Given the description of an element on the screen output the (x, y) to click on. 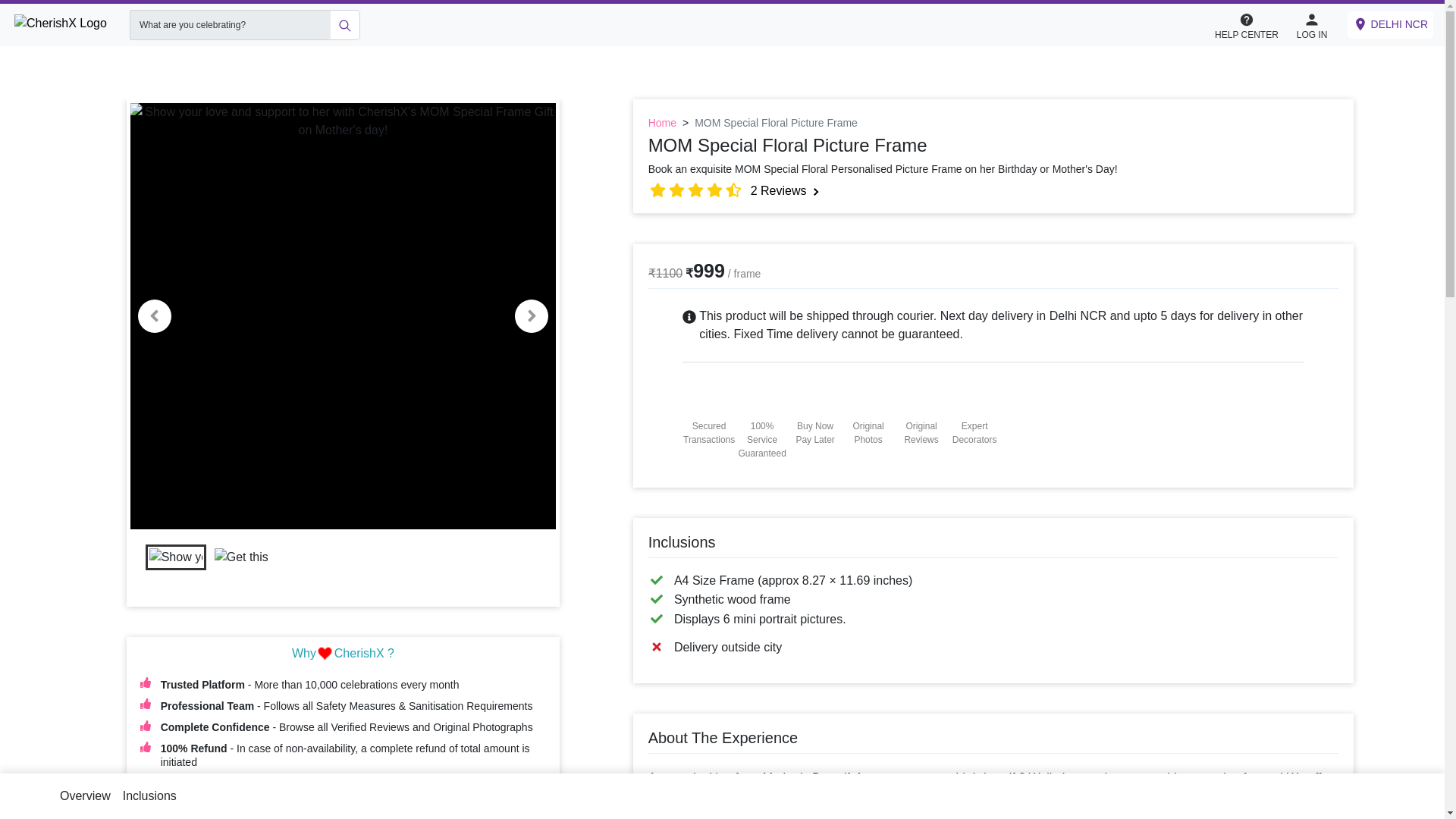
DELHI NCR (1390, 24)
LOG IN (1312, 24)
HELP CENTER (1253, 25)
What are you celebrating? (229, 24)
Home (662, 122)
What are you celebrating? (229, 24)
HELP CENTER (1245, 24)
